Given the description of an element on the screen output the (x, y) to click on. 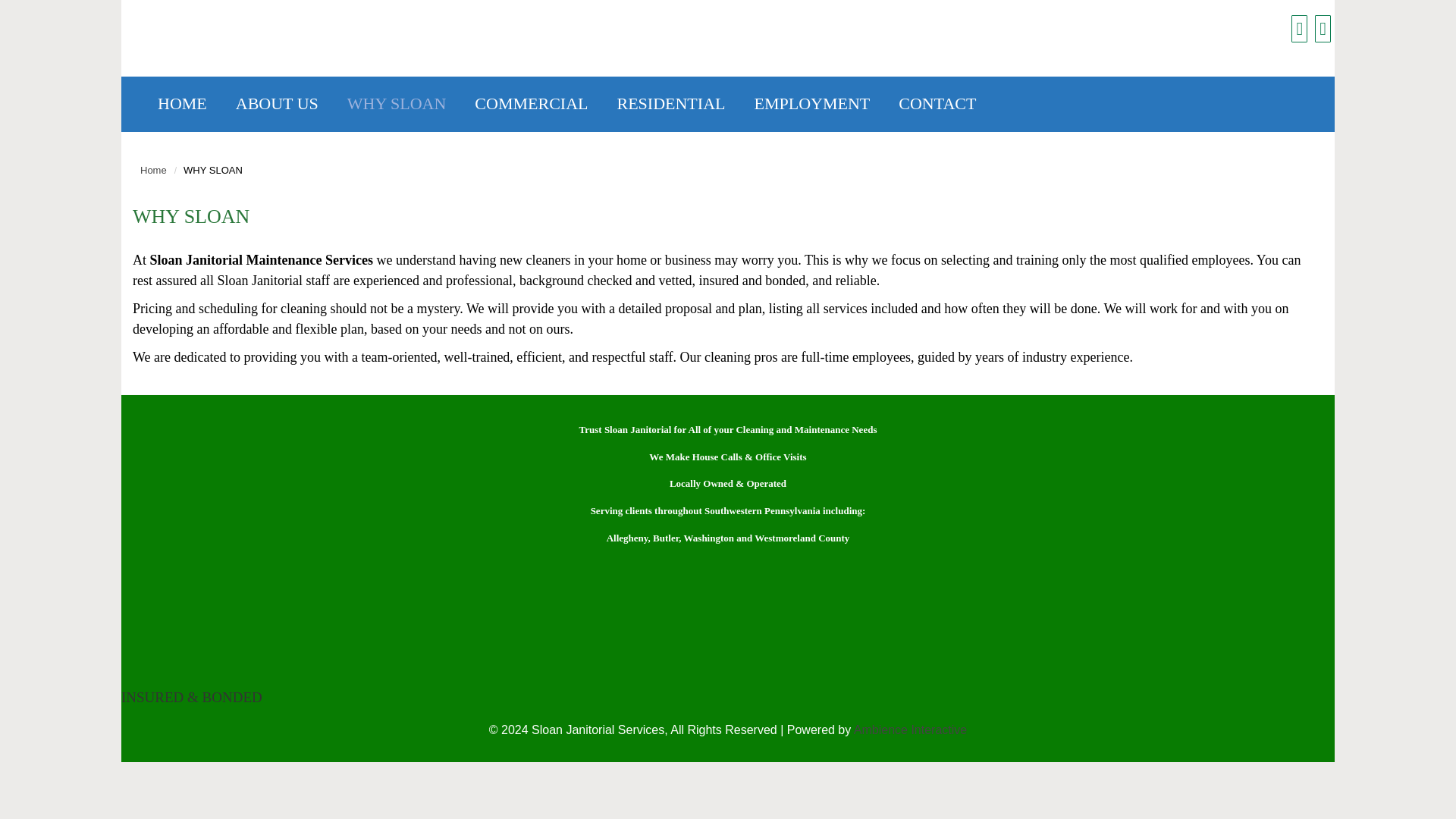
COMMERCIAL (531, 103)
Ambience Interactive (909, 729)
HOME (182, 103)
EMPLOYMENT (812, 103)
Home (156, 170)
CONTACT (938, 103)
ABOUT US (277, 103)
WHY SLOAN (397, 103)
RESIDENTIAL (670, 103)
